Given the description of an element on the screen output the (x, y) to click on. 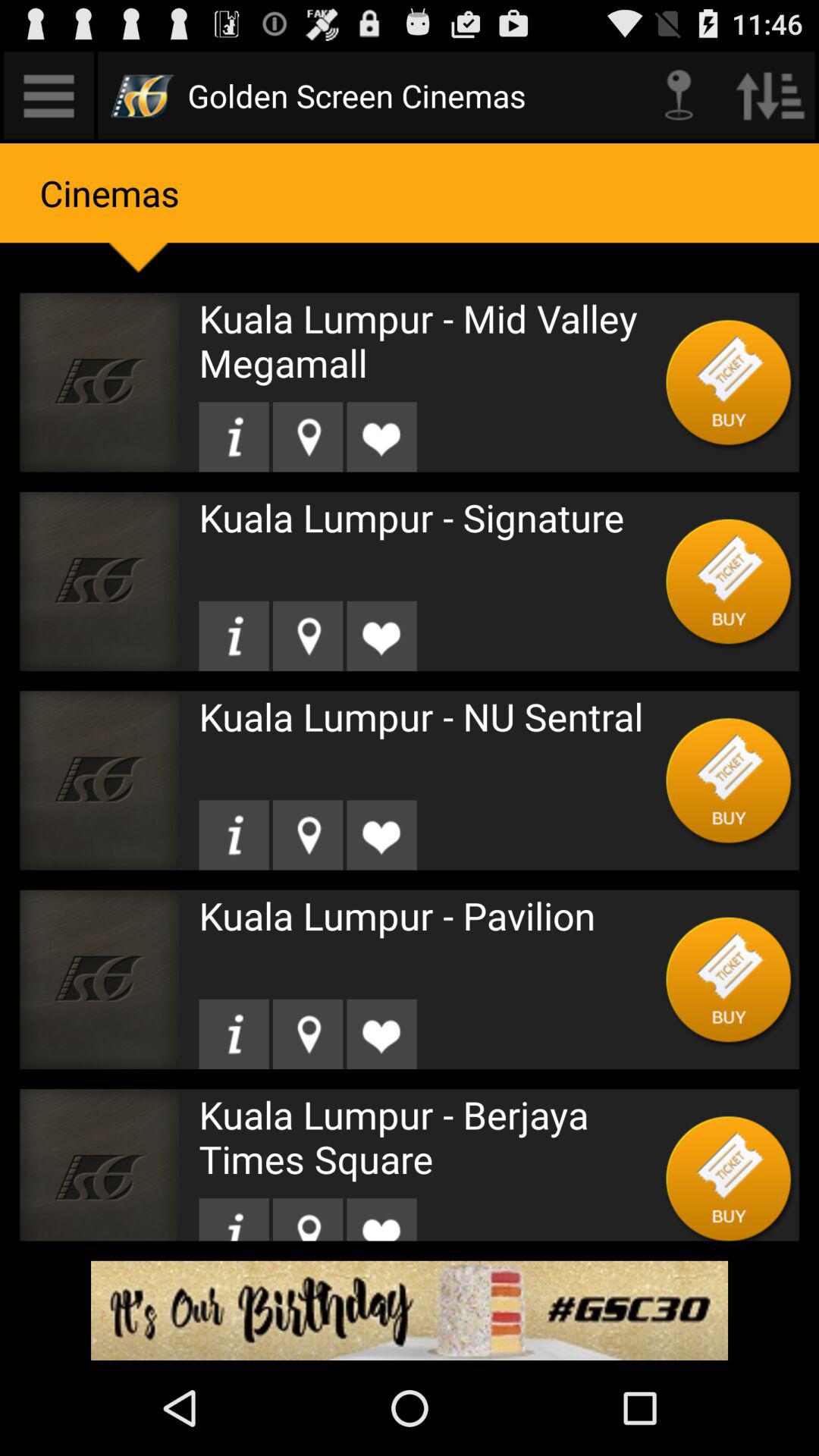
buy a movie ticket (729, 382)
